Given the description of an element on the screen output the (x, y) to click on. 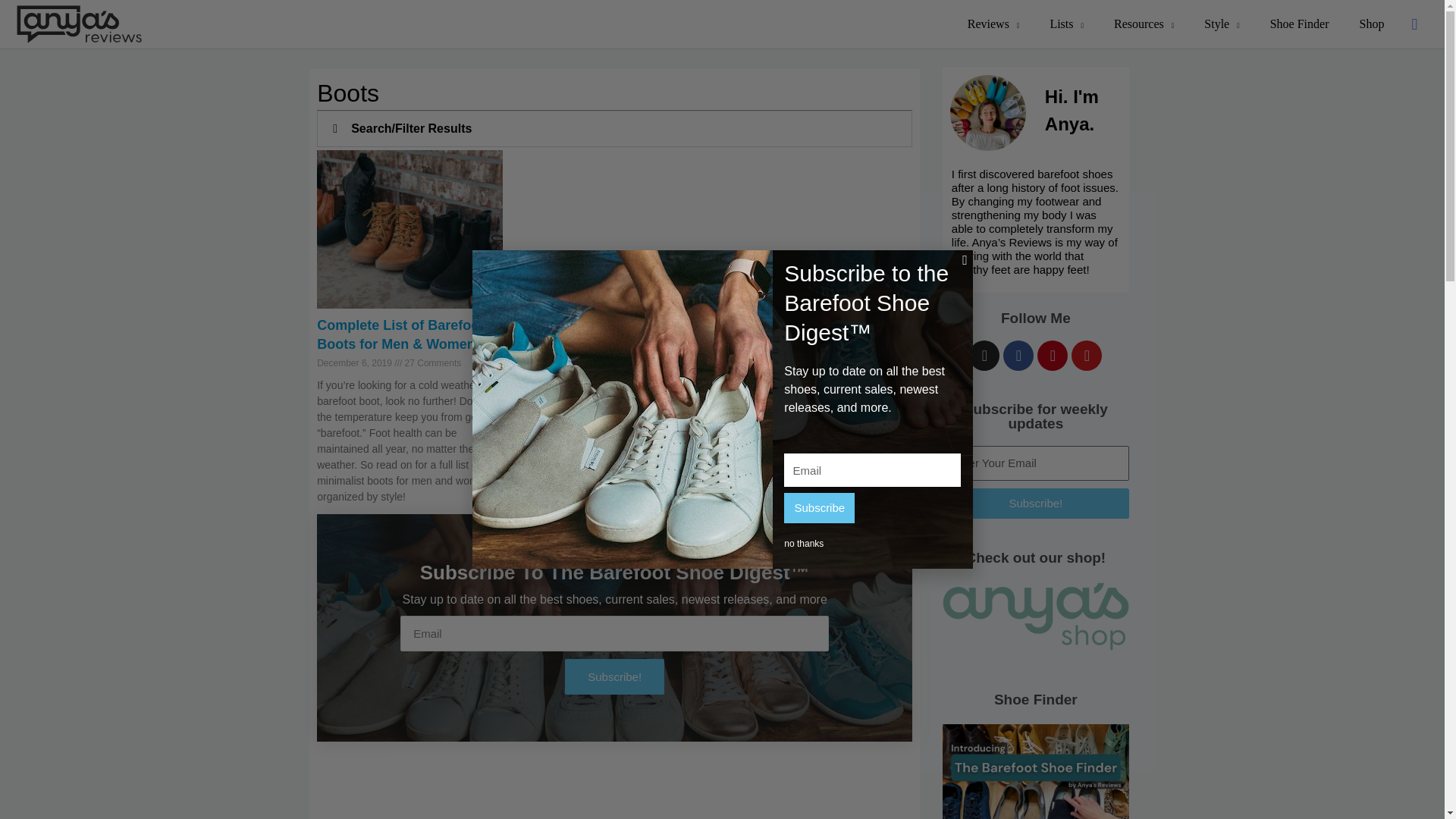
Reviews (993, 24)
Style (1221, 24)
Lists (1066, 24)
Resources (1144, 24)
Shoe Finder (1299, 24)
Shop (1371, 24)
